Given the description of an element on the screen output the (x, y) to click on. 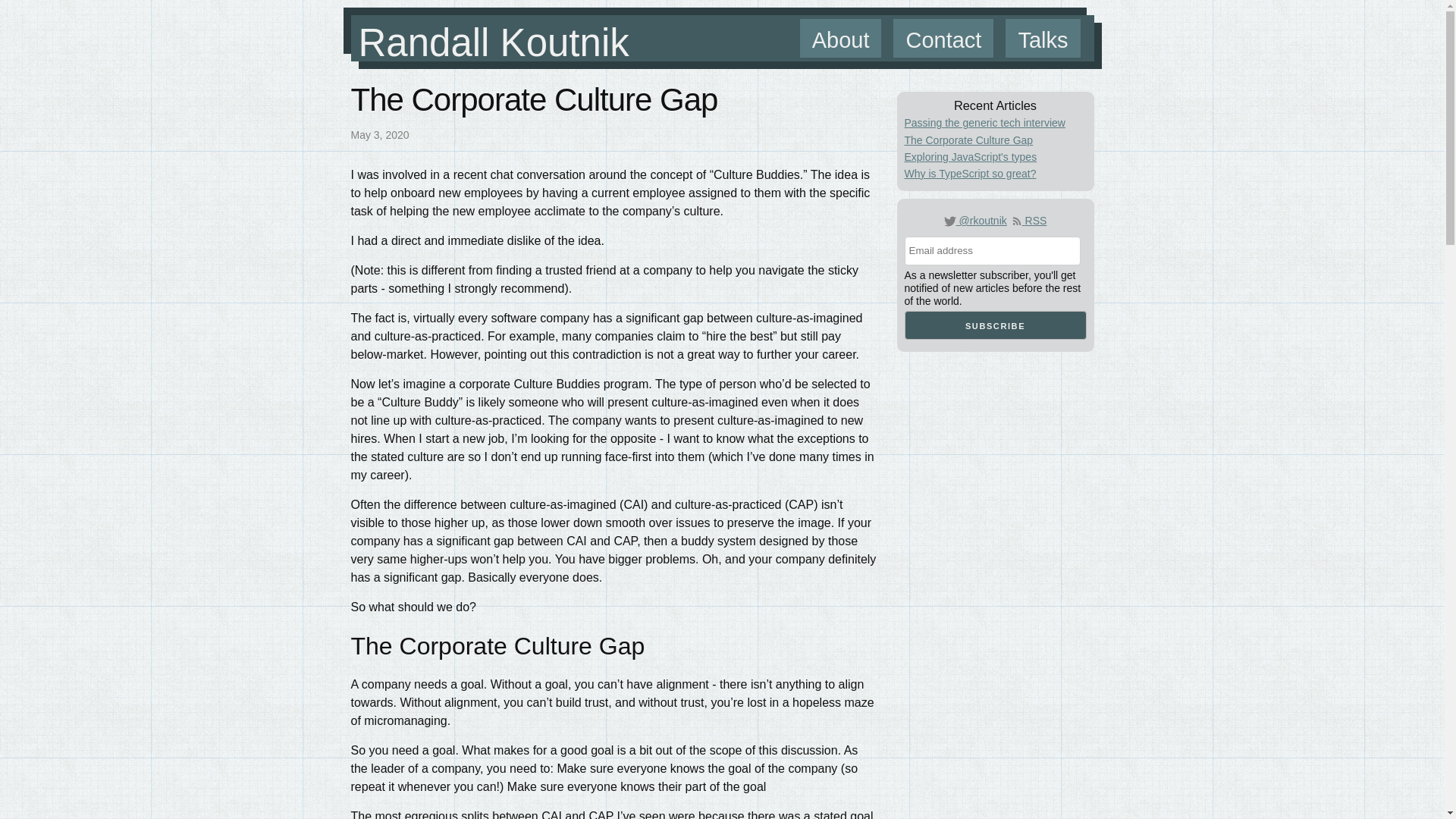
Contact (942, 37)
RSS (1028, 220)
About (840, 37)
Why is TypeScript so great? (969, 173)
Subscribe (995, 325)
The Corporate Culture Gap (968, 139)
Passing the generic tech interview (984, 122)
Randall Koutnik (493, 42)
Talks (1043, 37)
Exploring JavaScript's types (970, 156)
Subscribe (995, 325)
